Given the description of an element on the screen output the (x, y) to click on. 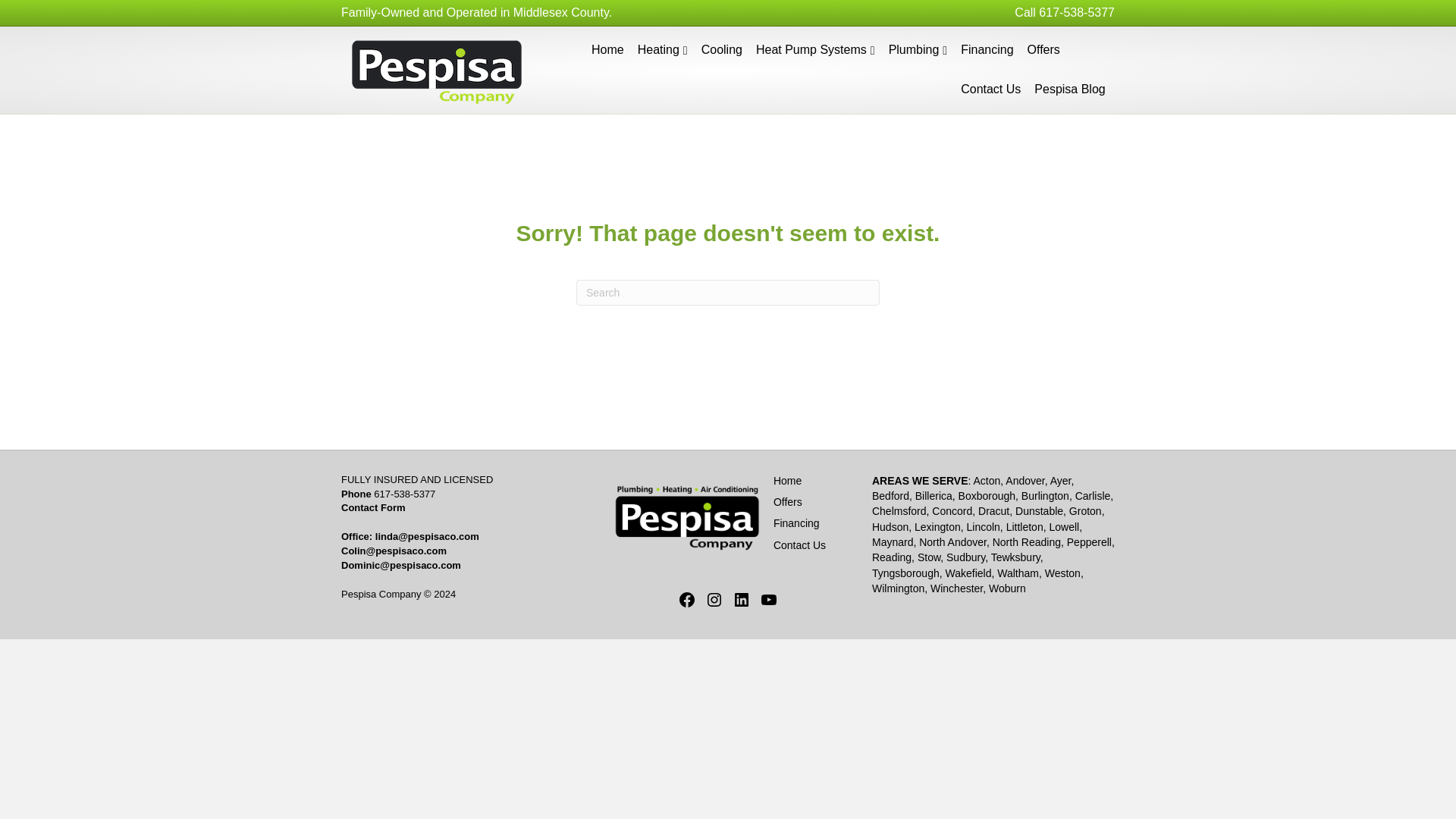
Instagram (713, 599)
Home (607, 49)
Home (787, 480)
Plumbing (918, 50)
Financing (796, 522)
Cooling (721, 49)
Contact Us (799, 544)
Contact Us (990, 88)
617-538-5377 (404, 493)
Facebook (686, 599)
